Given the description of an element on the screen output the (x, y) to click on. 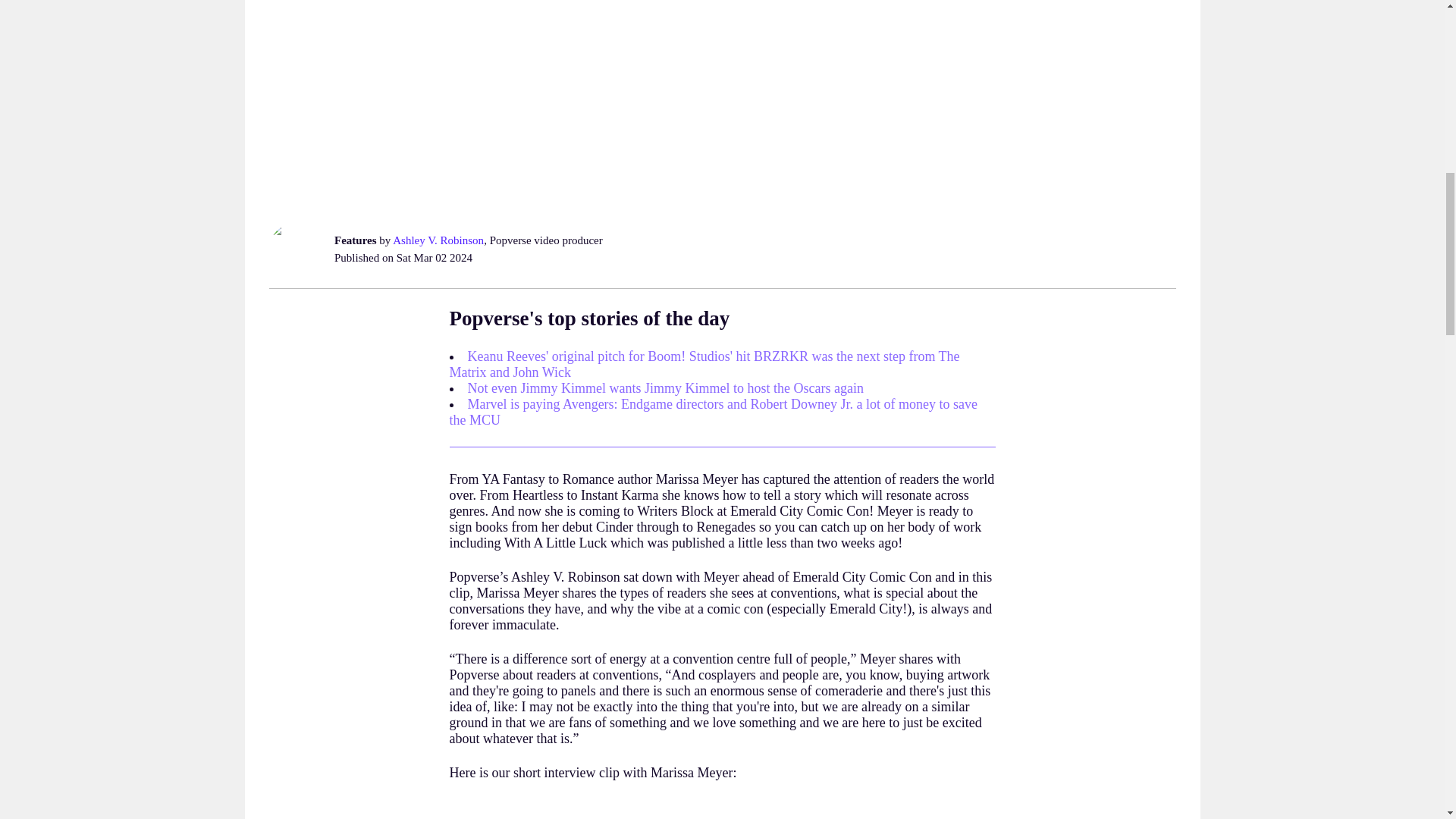
Ashley V. Robinson (438, 240)
Embedded video (721, 812)
